Given the description of an element on the screen output the (x, y) to click on. 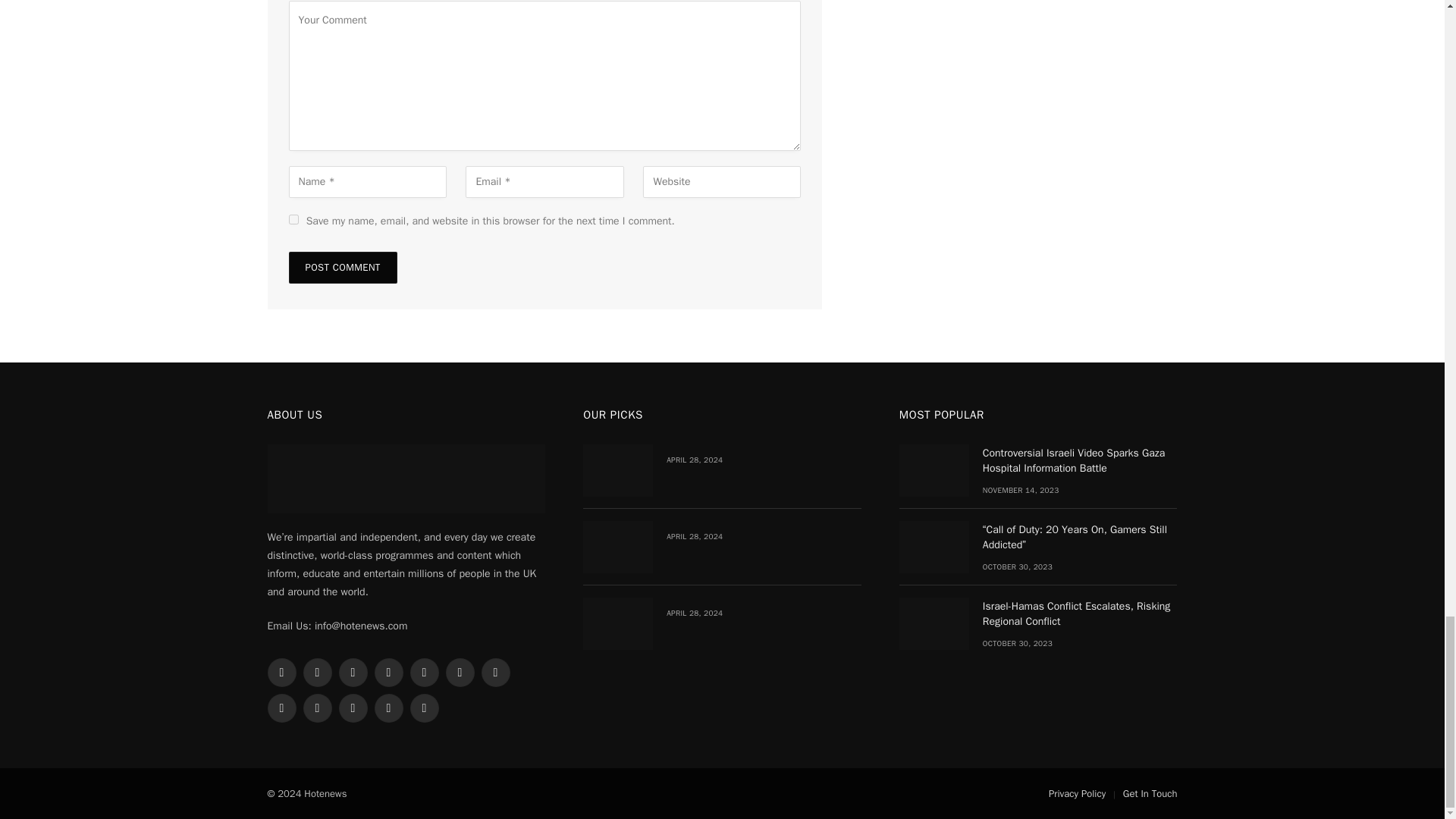
yes (293, 219)
Post Comment (342, 267)
